Given the description of an element on the screen output the (x, y) to click on. 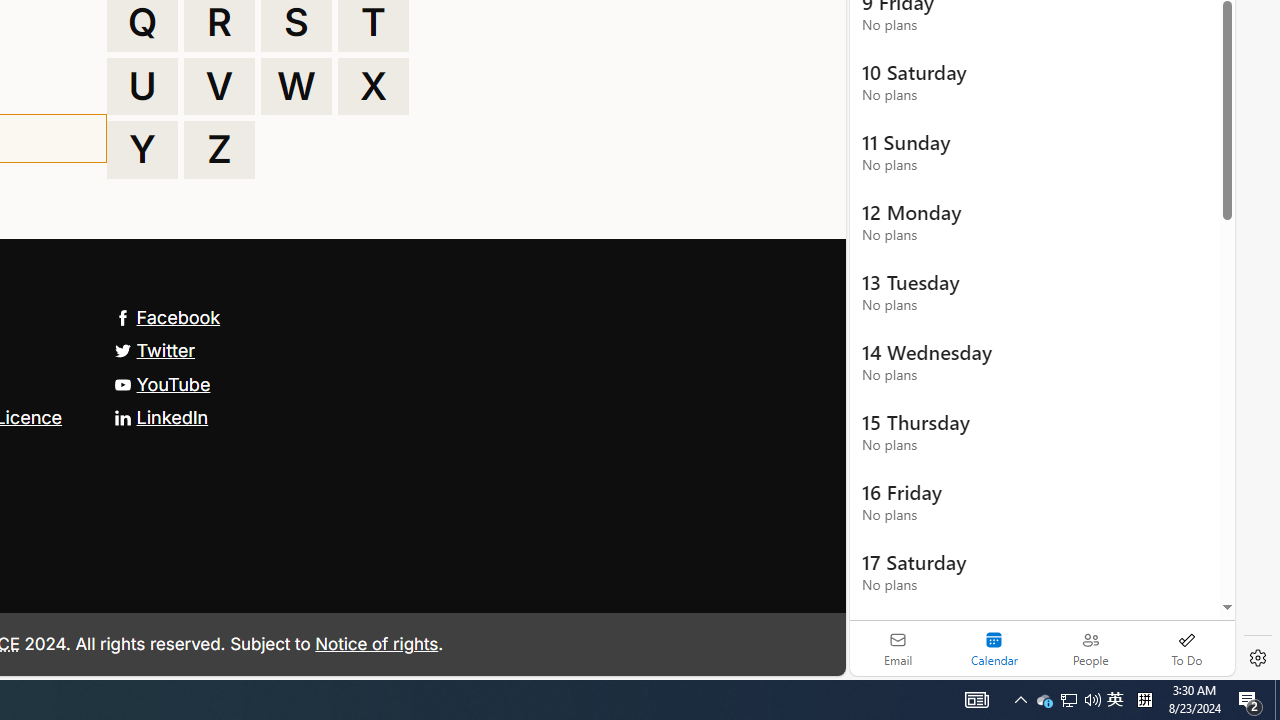
Twitter (154, 350)
X (373, 85)
U (142, 85)
Email (898, 648)
Facebook (167, 317)
W (296, 85)
Z (219, 149)
YouTube (162, 383)
Y (142, 149)
Y (142, 149)
